Given the description of an element on the screen output the (x, y) to click on. 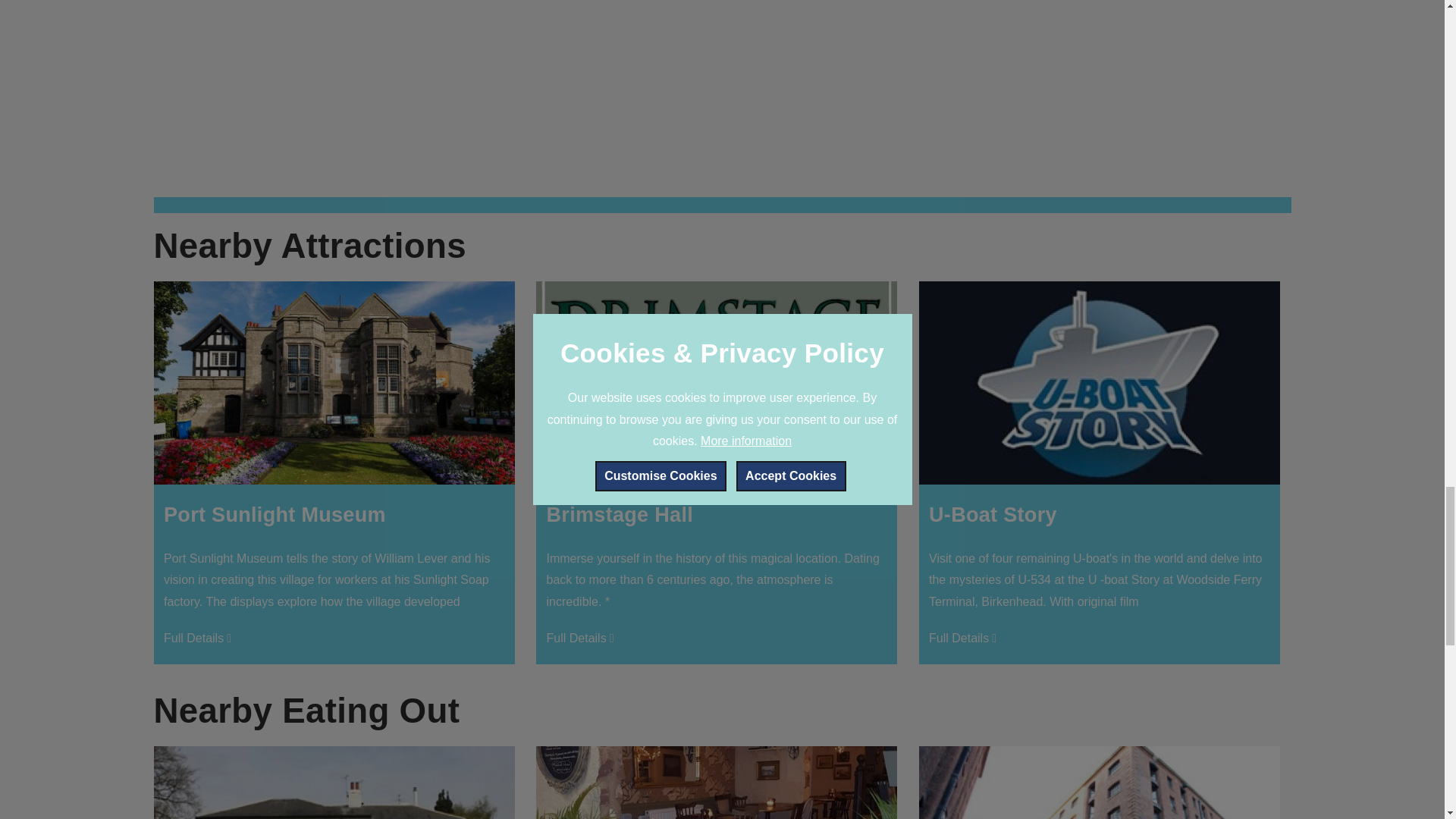
Full Details (582, 638)
Full Details (964, 638)
Full Details (198, 638)
